Given the description of an element on the screen output the (x, y) to click on. 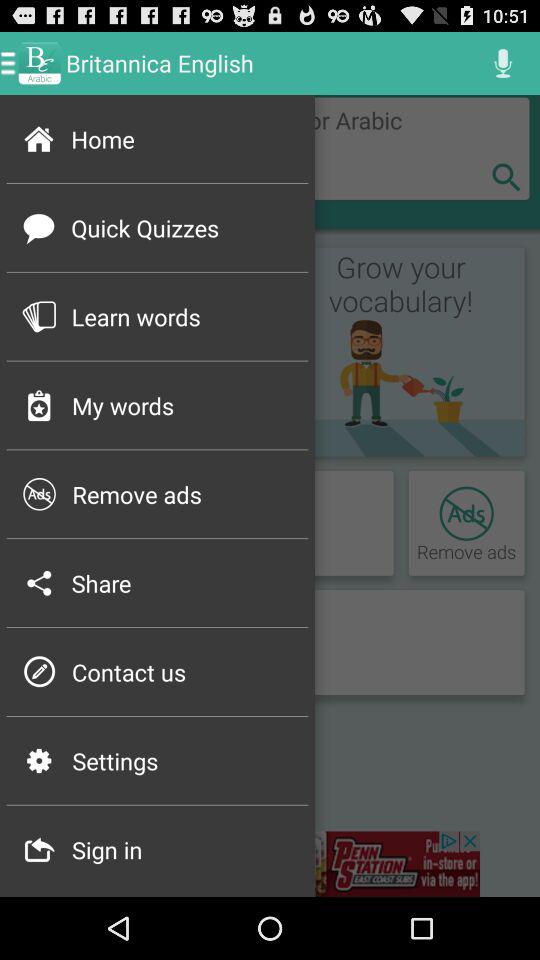
tap the w item (38, 582)
